Given the description of an element on the screen output the (x, y) to click on. 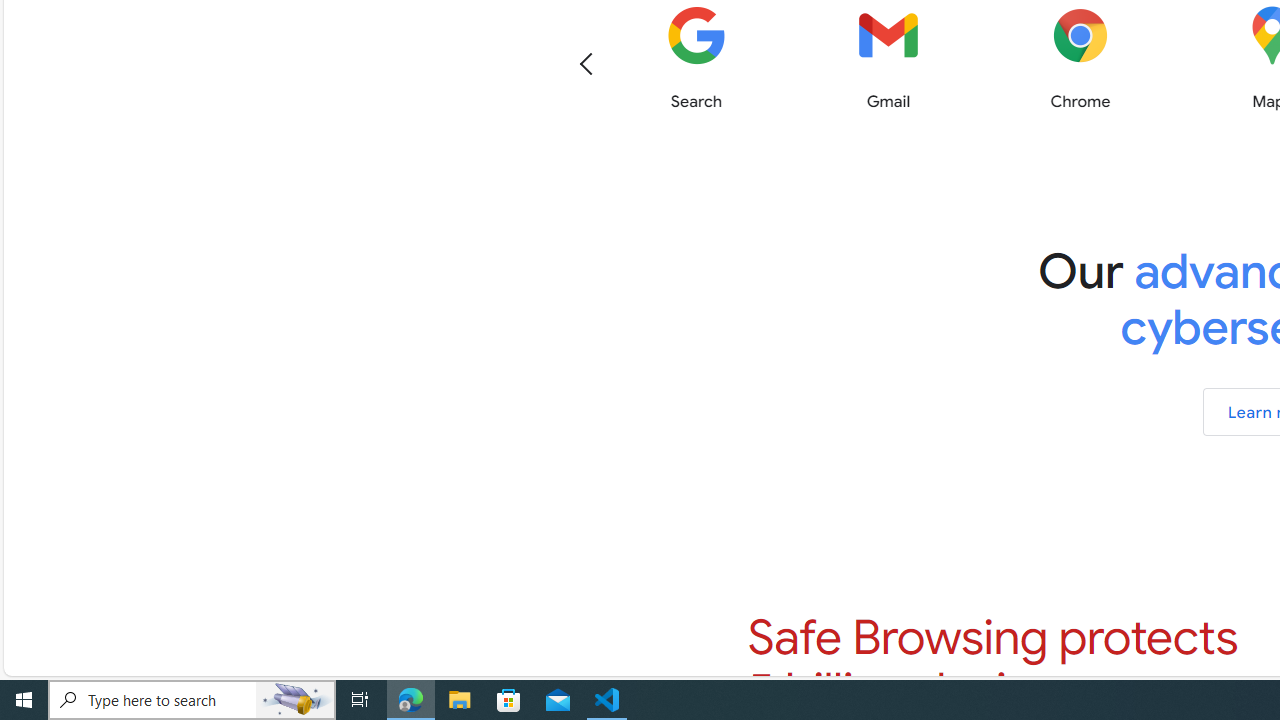
Chrome (1080, 58)
Learn more about Gmail (888, 58)
Learn more about Google Search (696, 58)
Learn more about Chrome (1080, 58)
Gmail (888, 58)
Previous (586, 62)
